Given the description of an element on the screen output the (x, y) to click on. 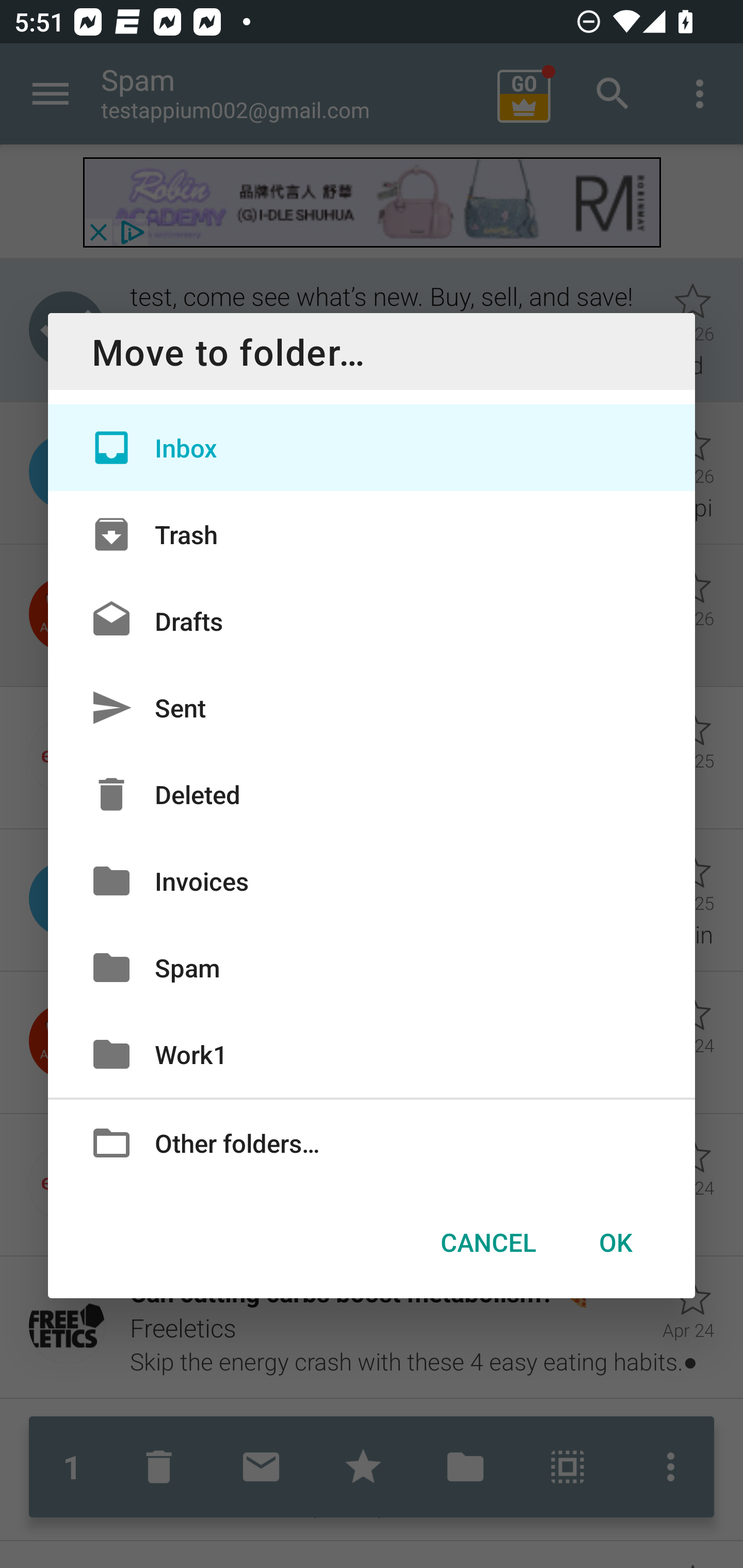
Inbox (371, 447)
Trash (371, 533)
Drafts (371, 620)
Sent (371, 707)
Deleted (371, 794)
Invoices (371, 880)
Spam (371, 967)
Work1 (371, 1054)
Other folders… (371, 1141)
CANCEL (488, 1241)
OK (615, 1241)
